Given the description of an element on the screen output the (x, y) to click on. 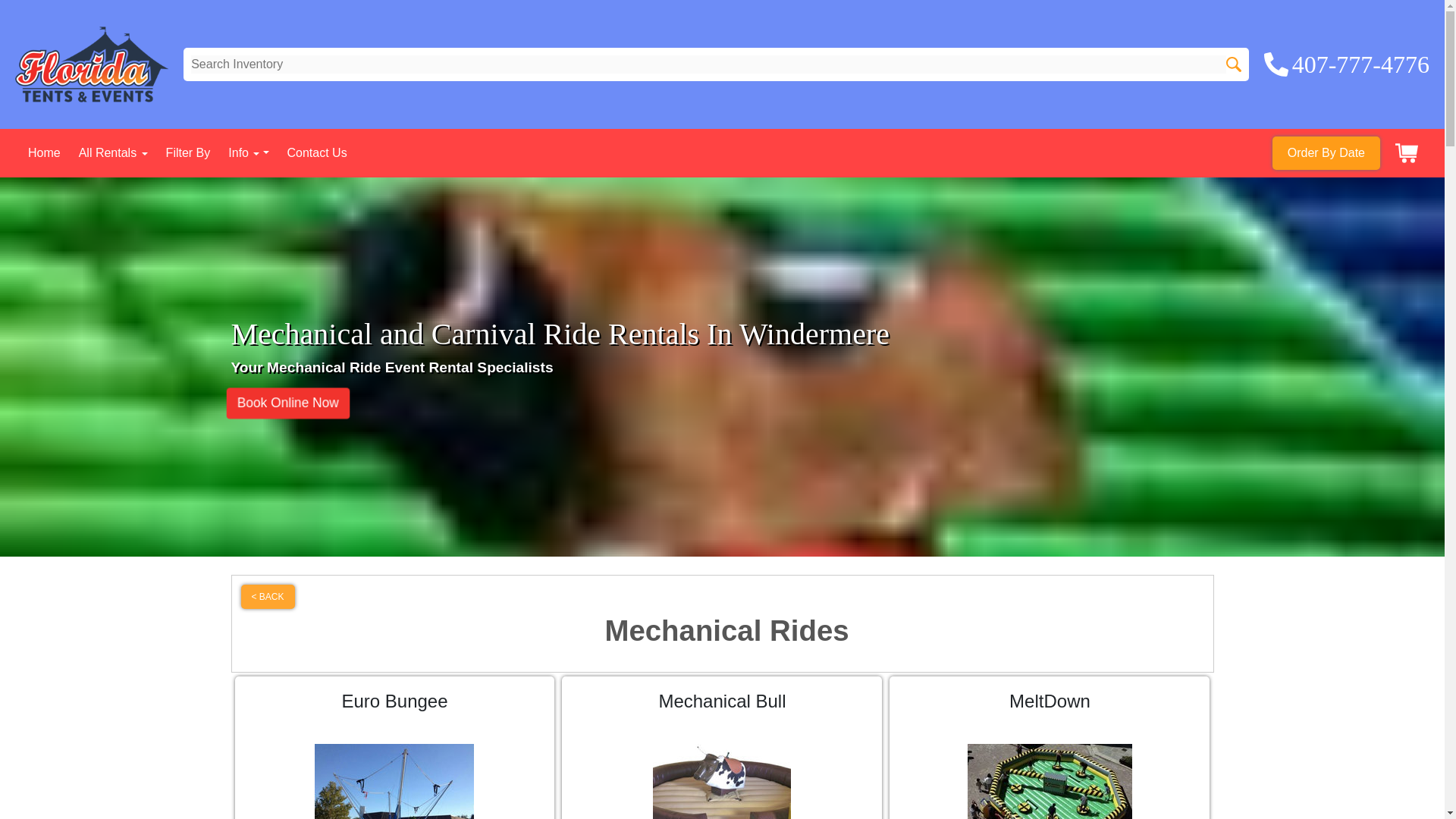
Home (44, 152)
All Rentals (113, 152)
Contact Us (316, 152)
Filter By (188, 152)
Info (247, 152)
407-777-4776 (1346, 63)
Book Online Now (283, 402)
Order By Date (1326, 152)
